Given the description of an element on the screen output the (x, y) to click on. 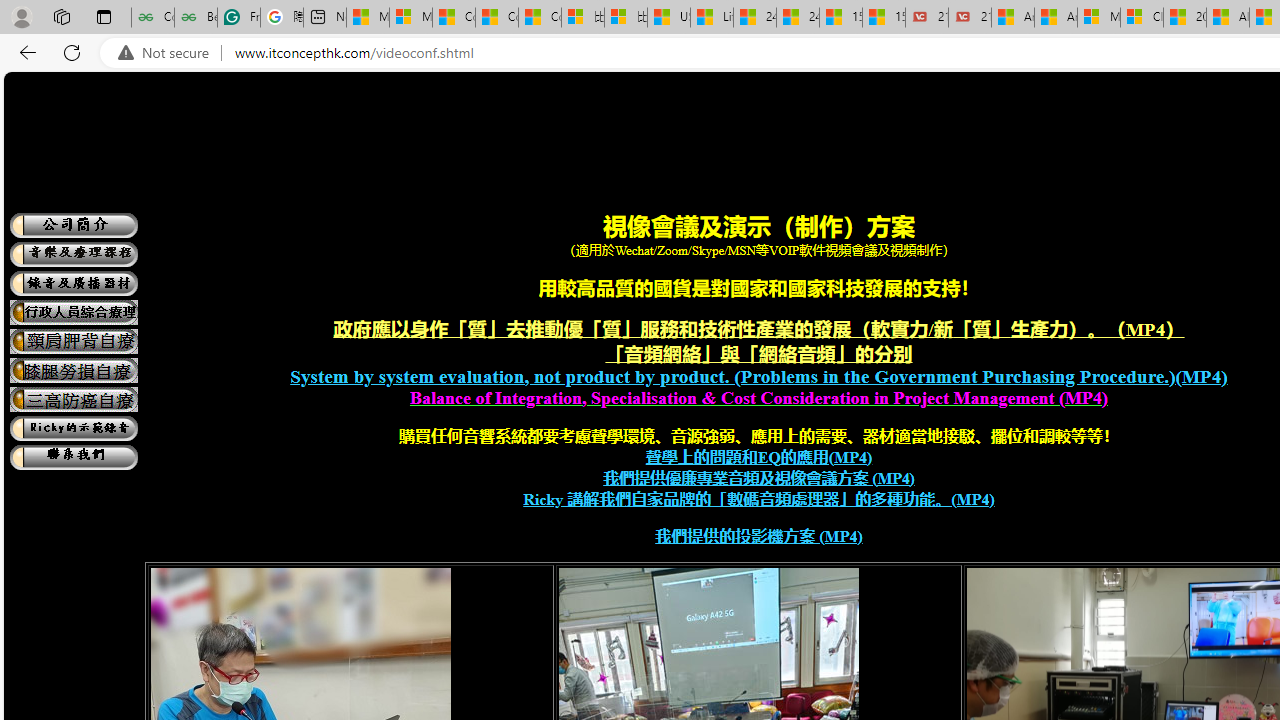
Not secure (168, 53)
20 Ways to Boost Your Protein Intake at Every Meal (1184, 17)
Complete Guide to Arrays Data Structure - GeeksforGeeks (152, 17)
